Given the description of an element on the screen output the (x, y) to click on. 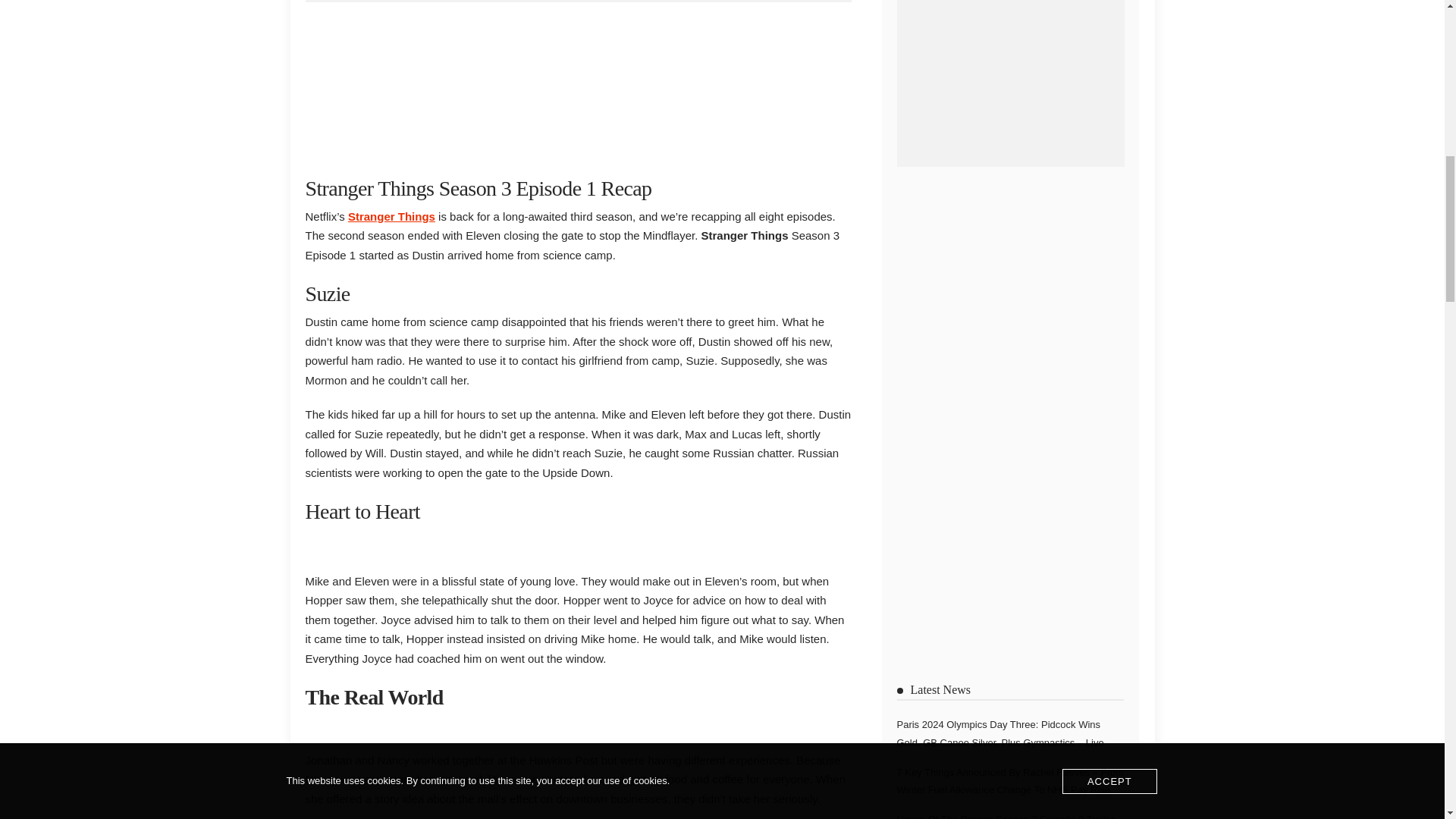
Advertisement (577, 85)
